Given the description of an element on the screen output the (x, y) to click on. 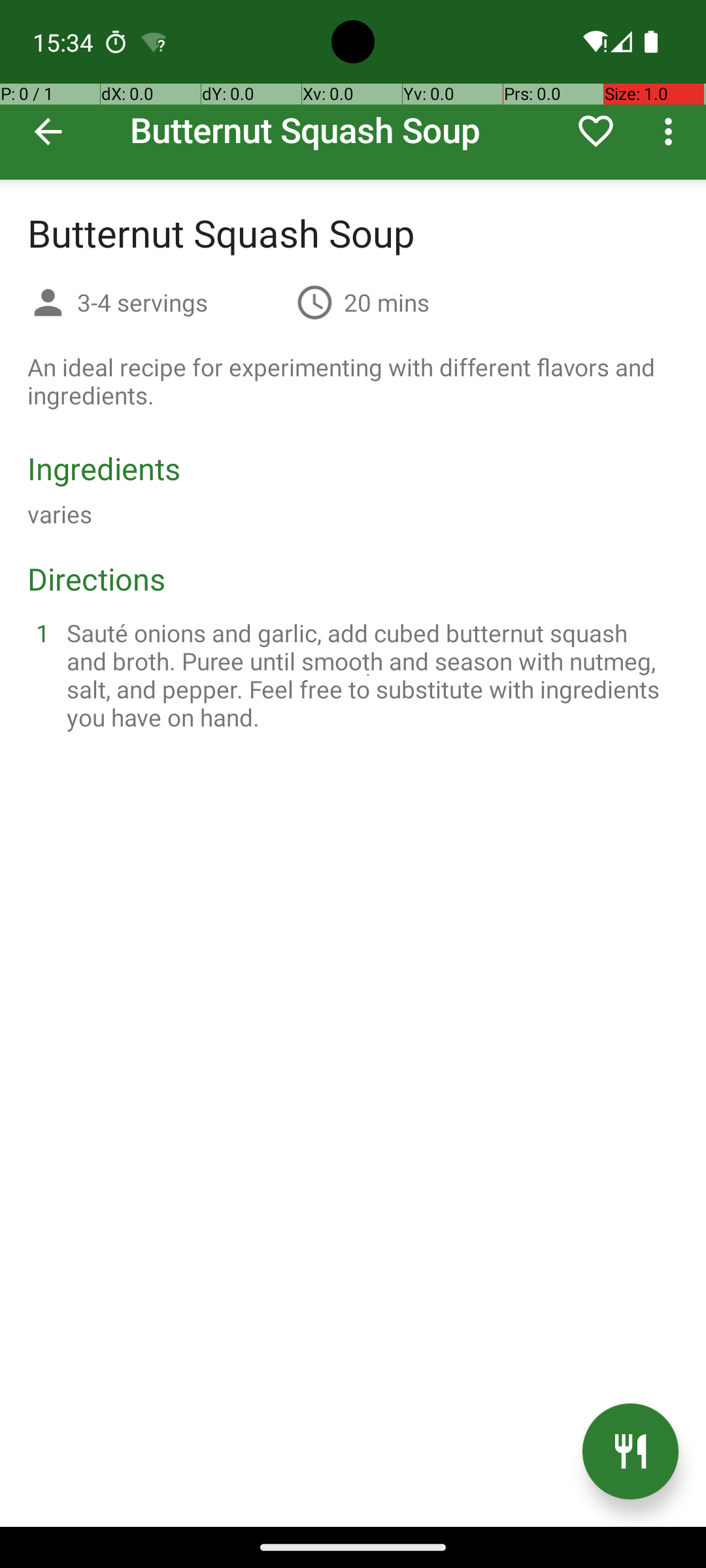
Sauté onions and garlic, add cubed butternut squash and broth. Puree until smooth and season with nutmeg, salt, and pepper. Feel free to substitute with ingredients you have on hand. Element type: android.widget.TextView (368, 674)
